Given the description of an element on the screen output the (x, y) to click on. 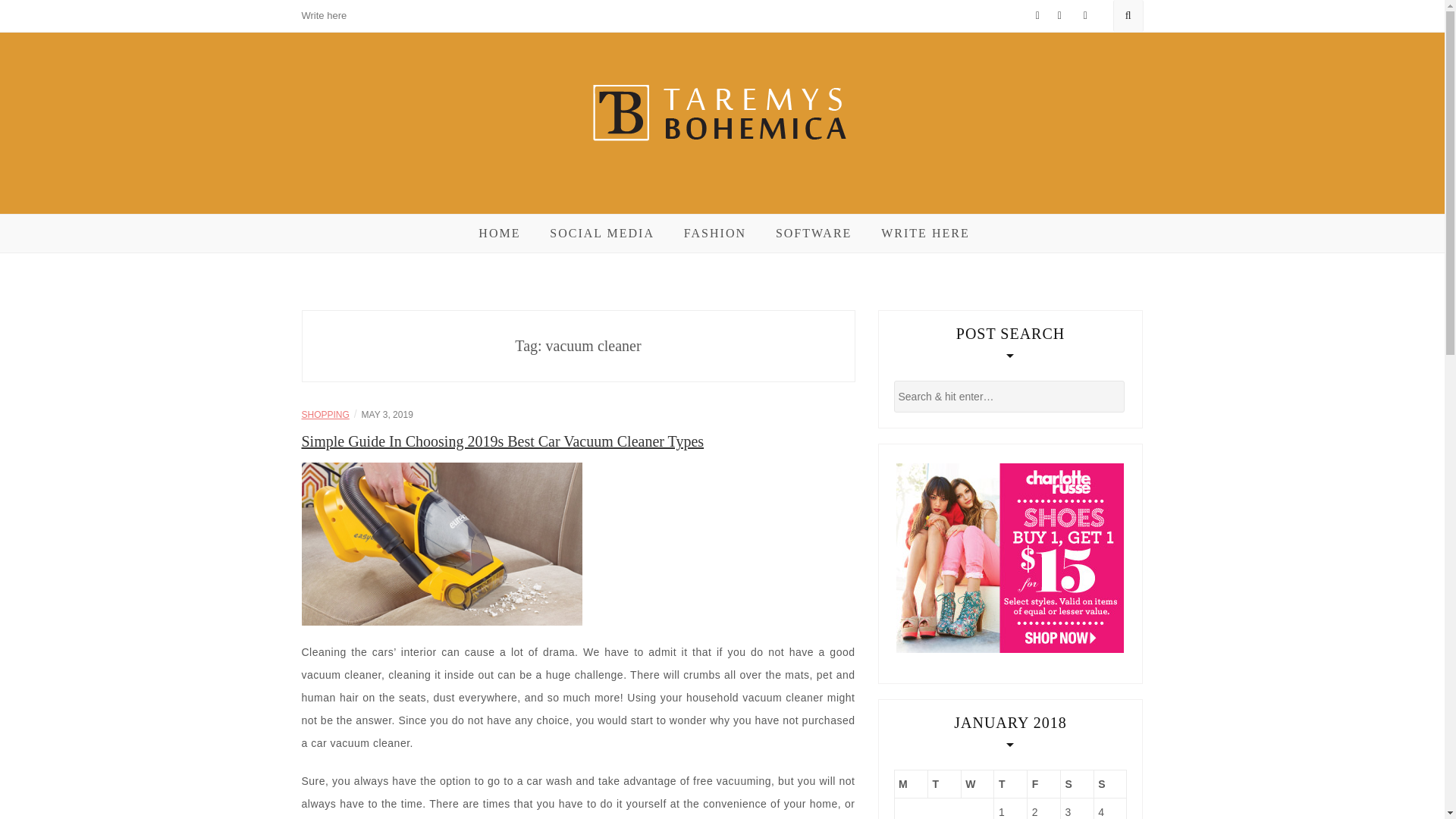
Tuesday (944, 783)
SOCIAL MEDIA (601, 233)
WRITE HERE (924, 233)
SHOPPING (325, 414)
Simple Guide In Choosing 2019s Best Car Vacuum Cleaner Types (441, 542)
SOFTWARE (813, 233)
Friday (1044, 783)
Thursday (1010, 783)
Wednesday (977, 783)
